Given the description of an element on the screen output the (x, y) to click on. 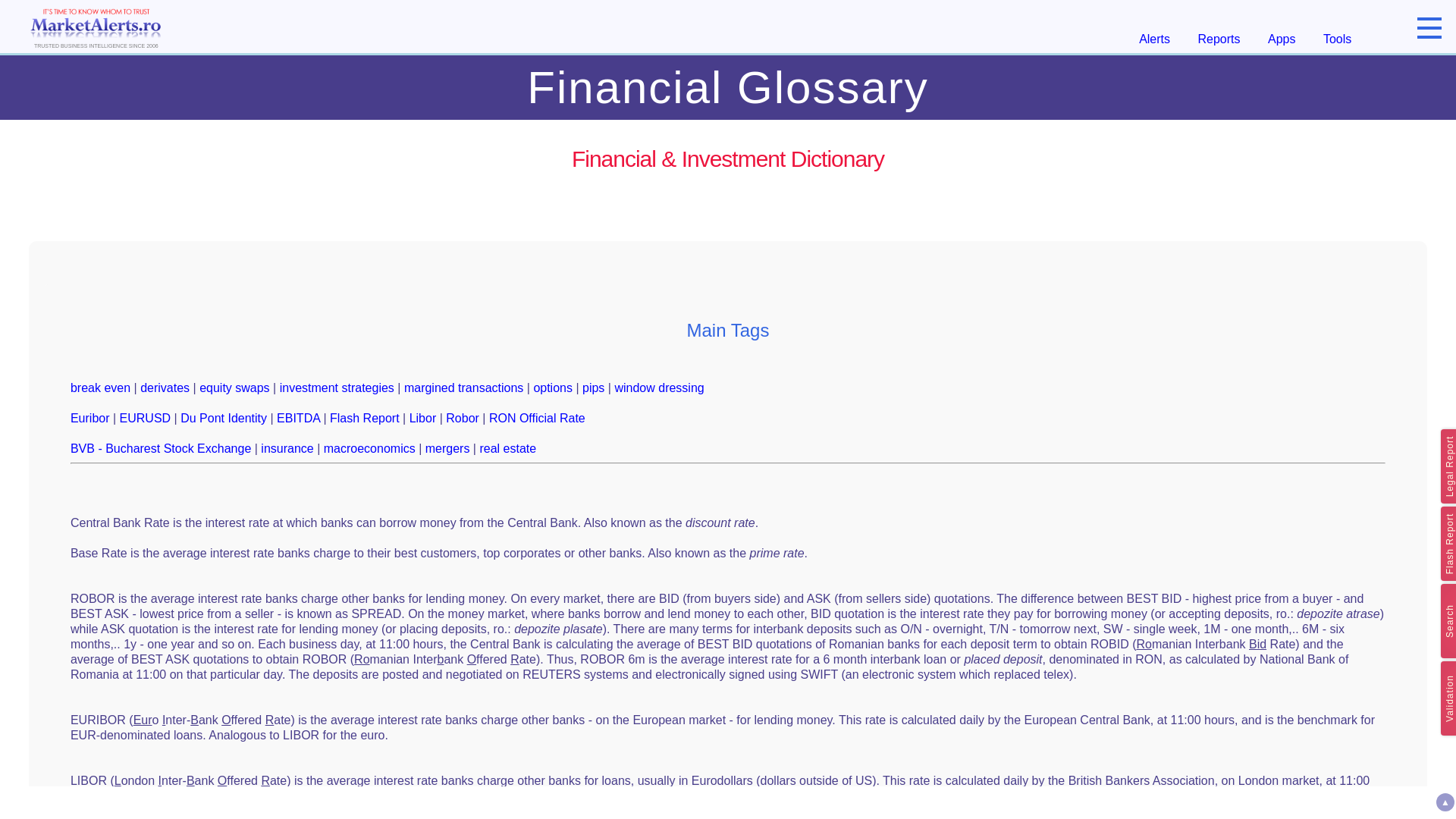
Apps (1281, 38)
Flash Report (364, 418)
TRUSTED BUSINESS INTELLIGENCE SINCE 2006 (96, 26)
Du Pont Identity (223, 418)
Explore our Home page (96, 26)
investment strategies (336, 387)
Reports (1219, 38)
EURUSD (145, 418)
Alerts (1154, 38)
macroeconomics (368, 448)
Tools (1337, 38)
options (552, 387)
insurance (286, 448)
BVB - Bucharest Stock Exchange (159, 448)
Libor (422, 418)
